Given the description of an element on the screen output the (x, y) to click on. 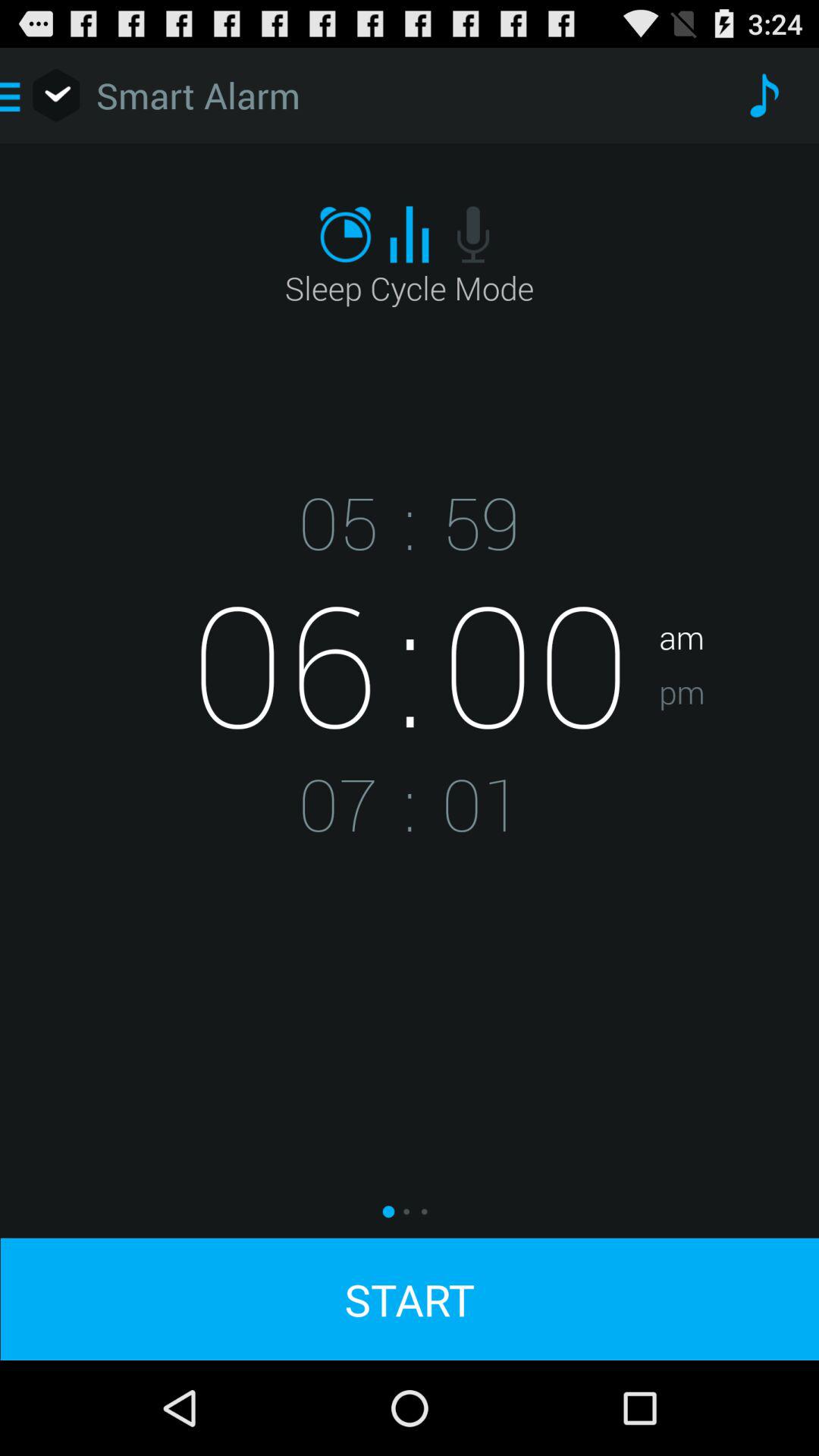
turn off the start item (409, 1299)
